Given the description of an element on the screen output the (x, y) to click on. 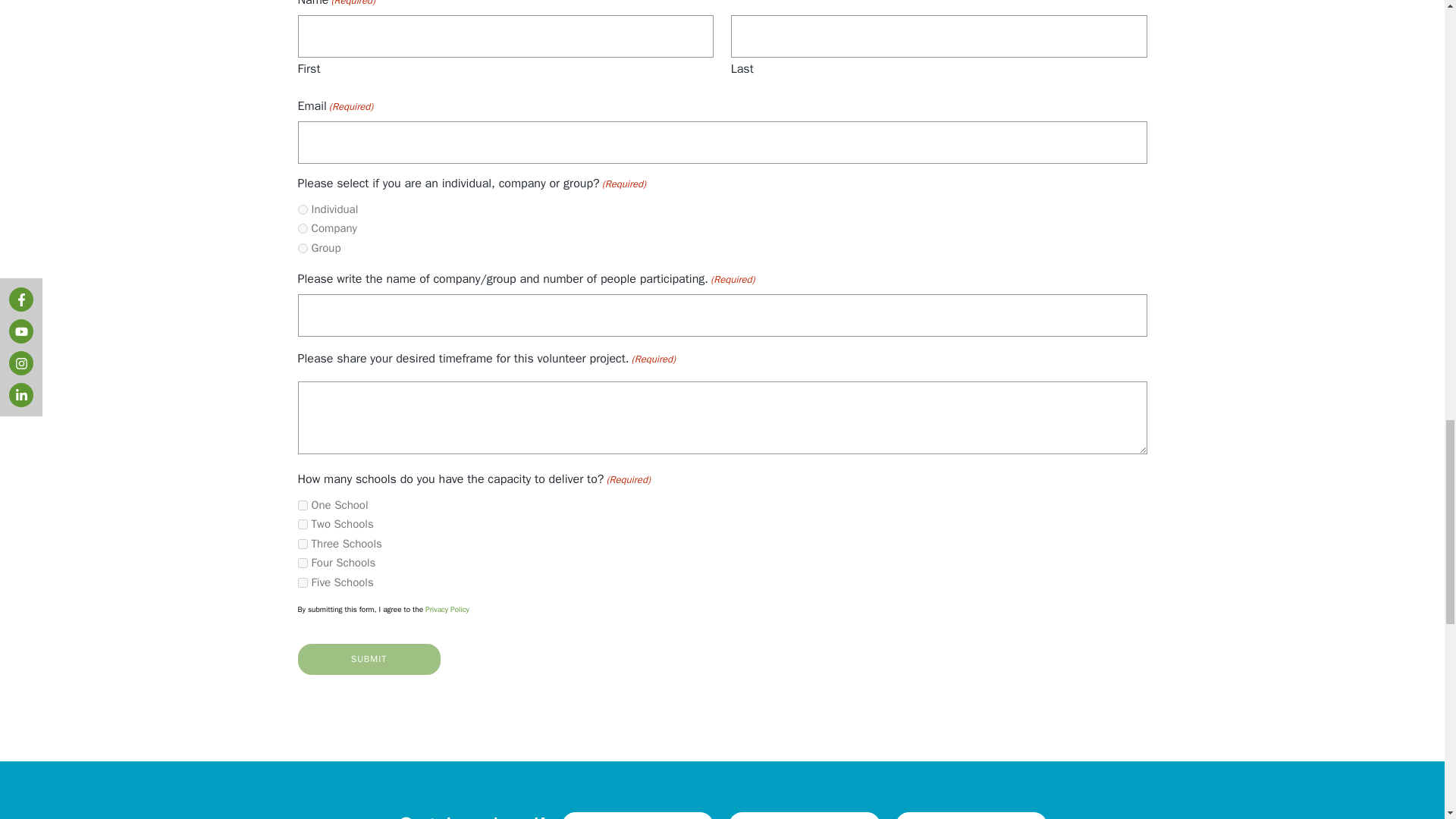
One School (302, 505)
Five Schools (302, 583)
Four Schools (302, 562)
Two Schools (302, 524)
Individual (302, 209)
Three Schools (302, 543)
Company (302, 228)
Group (302, 248)
